Given the description of an element on the screen output the (x, y) to click on. 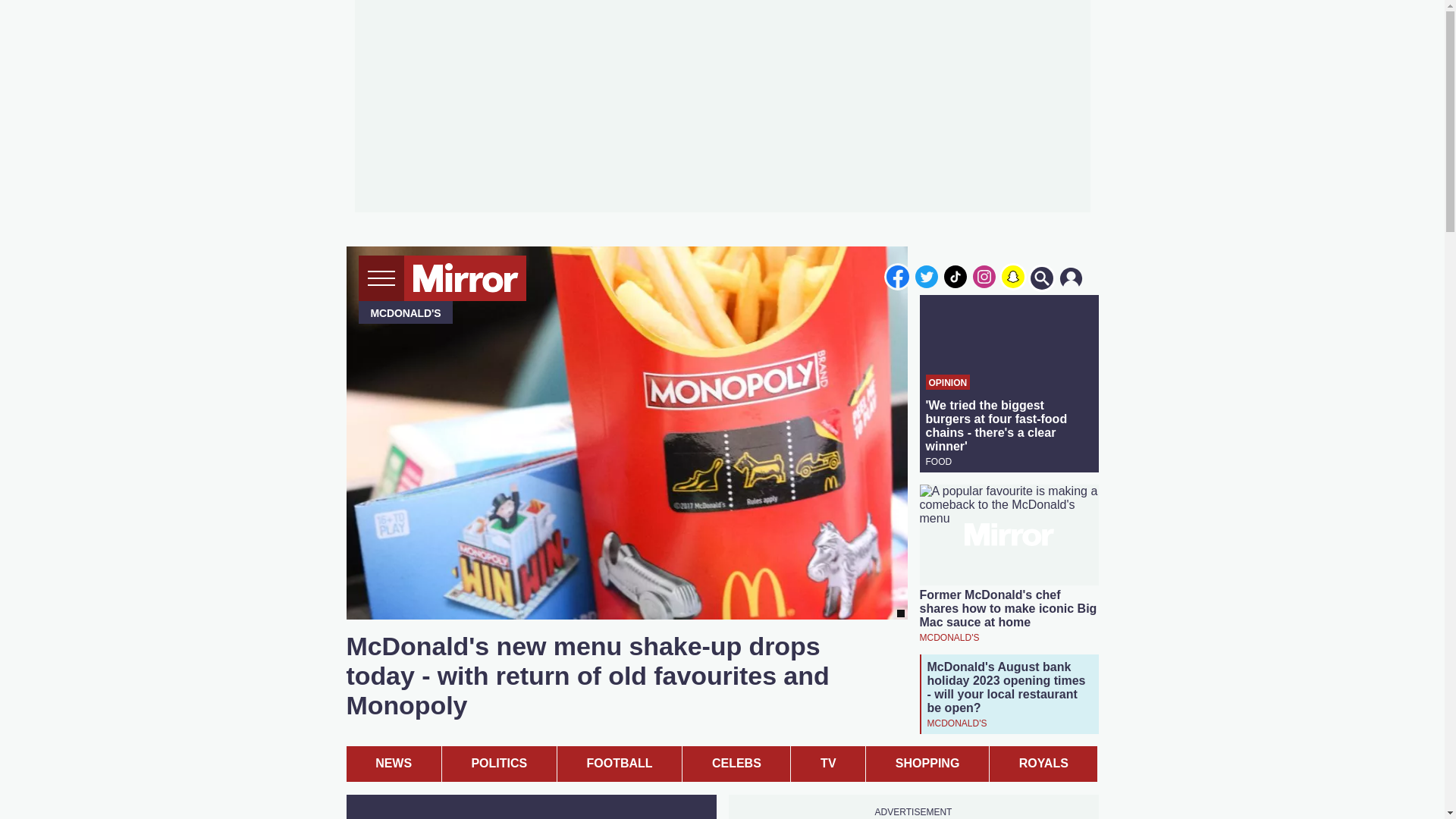
tiktok (955, 276)
MCDONALD'S (948, 637)
instagram (984, 276)
twitter (926, 276)
FOOD (938, 461)
FOOTBALL (619, 764)
NEWS (393, 764)
MCDONALD'S (956, 722)
ROYALS (1043, 764)
SHOPPING (927, 764)
CELEBS (736, 764)
POLITICS (499, 764)
